Given the description of an element on the screen output the (x, y) to click on. 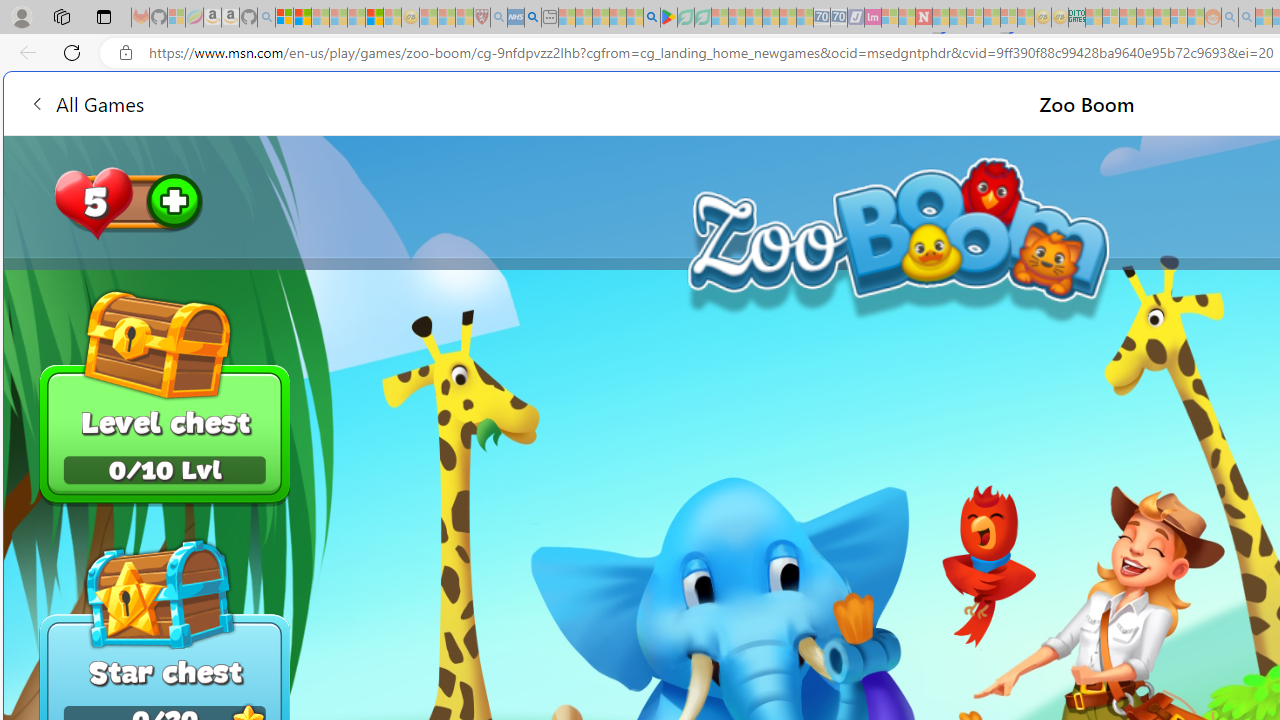
Cheap Hotels - Save70.com - Sleeping (838, 17)
Pets - MSN - Sleeping (617, 17)
Latest Politics News & Archive | Newsweek.com - Sleeping (923, 17)
All Games (380, 102)
